Given the description of an element on the screen output the (x, y) to click on. 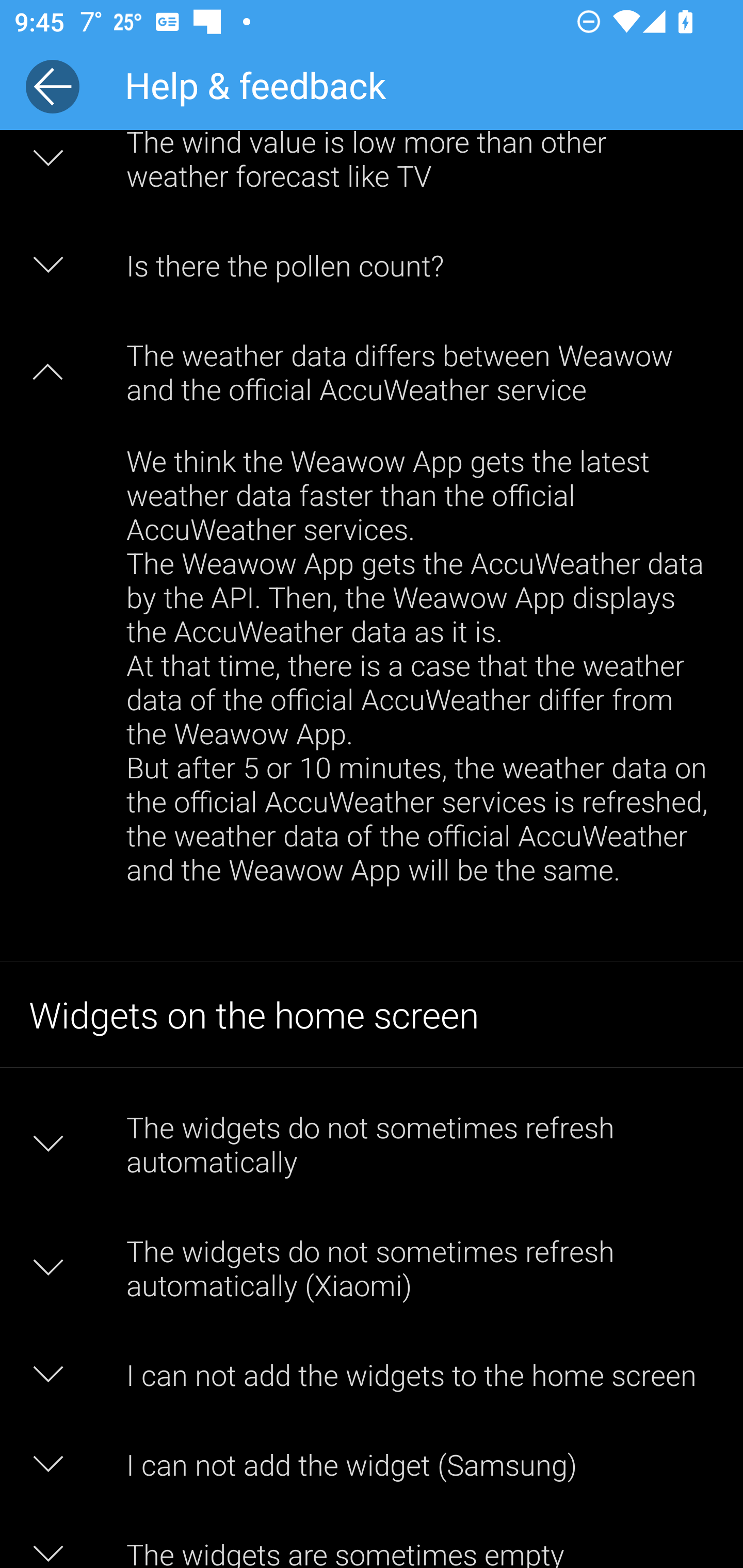
Is there the pollen count?  (371, 264)
I can not add the widgets to the home screen  (371, 1374)
I can not add the widget (Samsung)  (371, 1463)
The widgets are sometimes empty  (371, 1538)
